Given the description of an element on the screen output the (x, y) to click on. 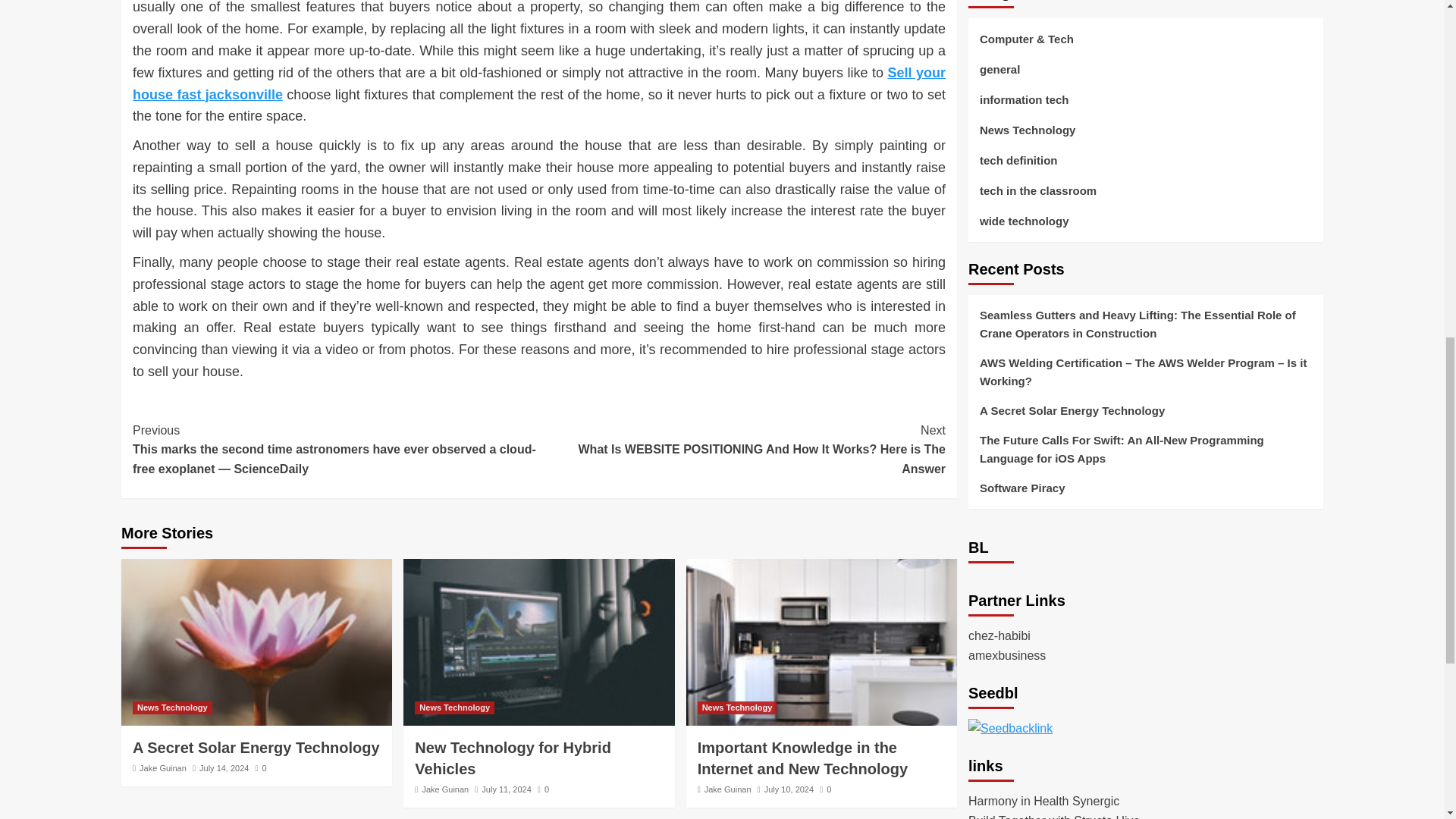
News Technology (172, 707)
New Technology for Hybrid Vehicles (512, 758)
July 14, 2024 (223, 768)
Jake Guinan (162, 768)
Sell your house fast jacksonville (538, 83)
Important Knowledge in the Internet and New Technology (820, 641)
July 11, 2024 (506, 788)
A Secret Solar Energy Technology (255, 641)
0 (542, 788)
0 (261, 768)
